Given the description of an element on the screen output the (x, y) to click on. 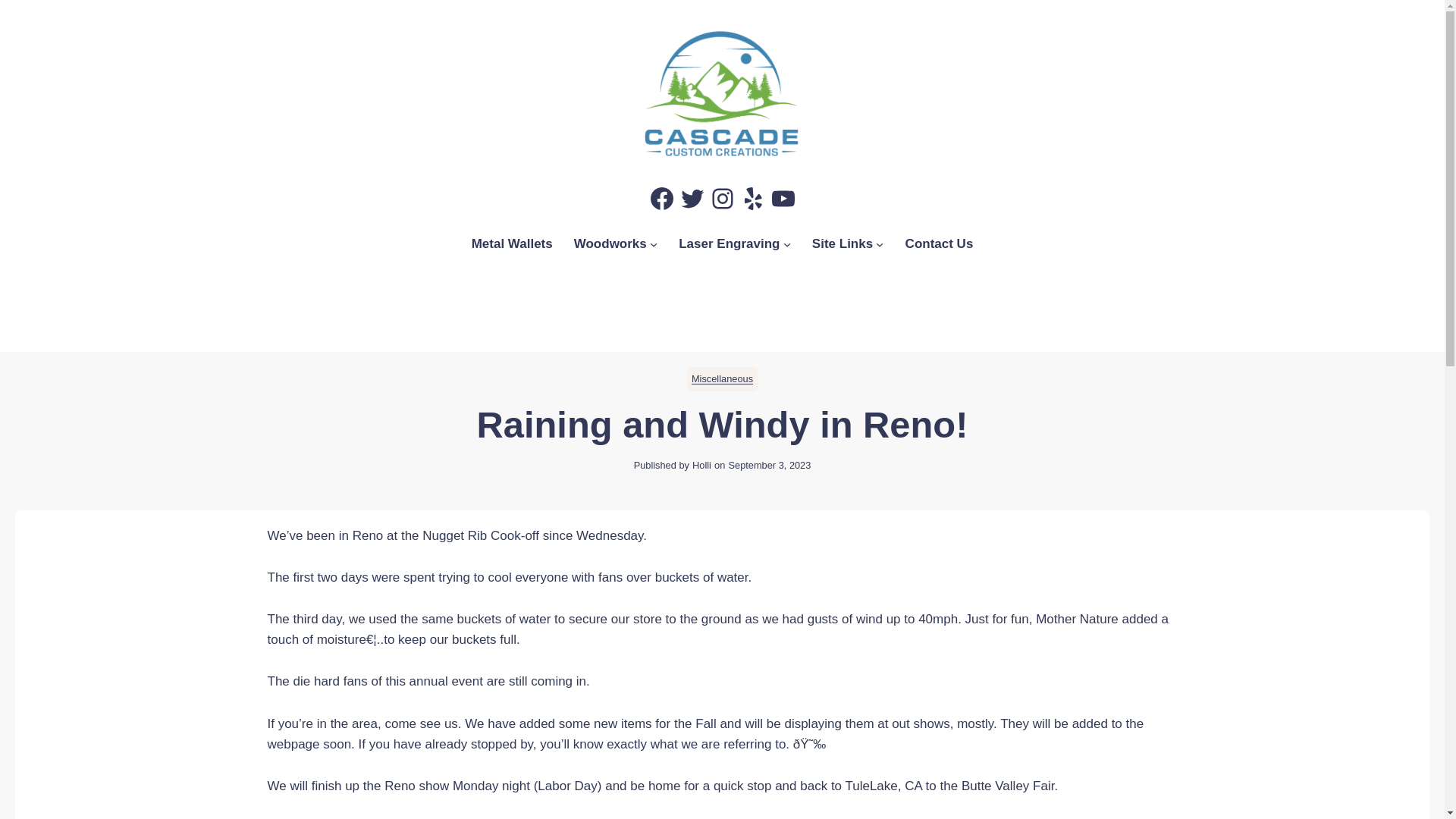
Woodworks (609, 243)
Yelp (751, 198)
Facebook (661, 198)
YouTube (782, 198)
Laser Engraving (728, 243)
Twitter (691, 198)
Metal Wallets (512, 243)
Site Links (842, 243)
Instagram (721, 198)
Contact Us (939, 243)
September 3, 2023 (769, 464)
Miscellaneous (721, 378)
